Given the description of an element on the screen output the (x, y) to click on. 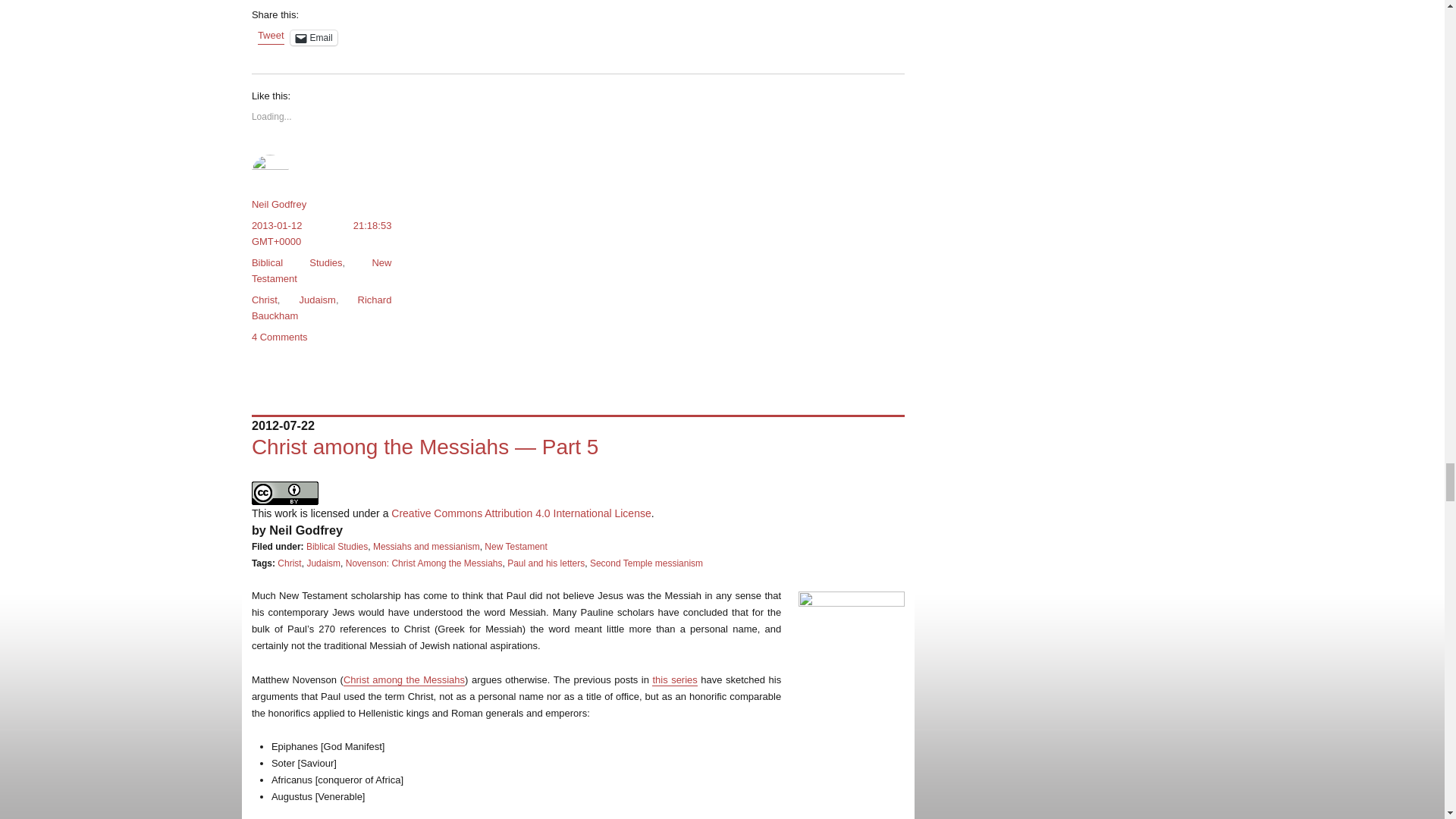
Click to email a link to a friend (313, 37)
